Given the description of an element on the screen output the (x, y) to click on. 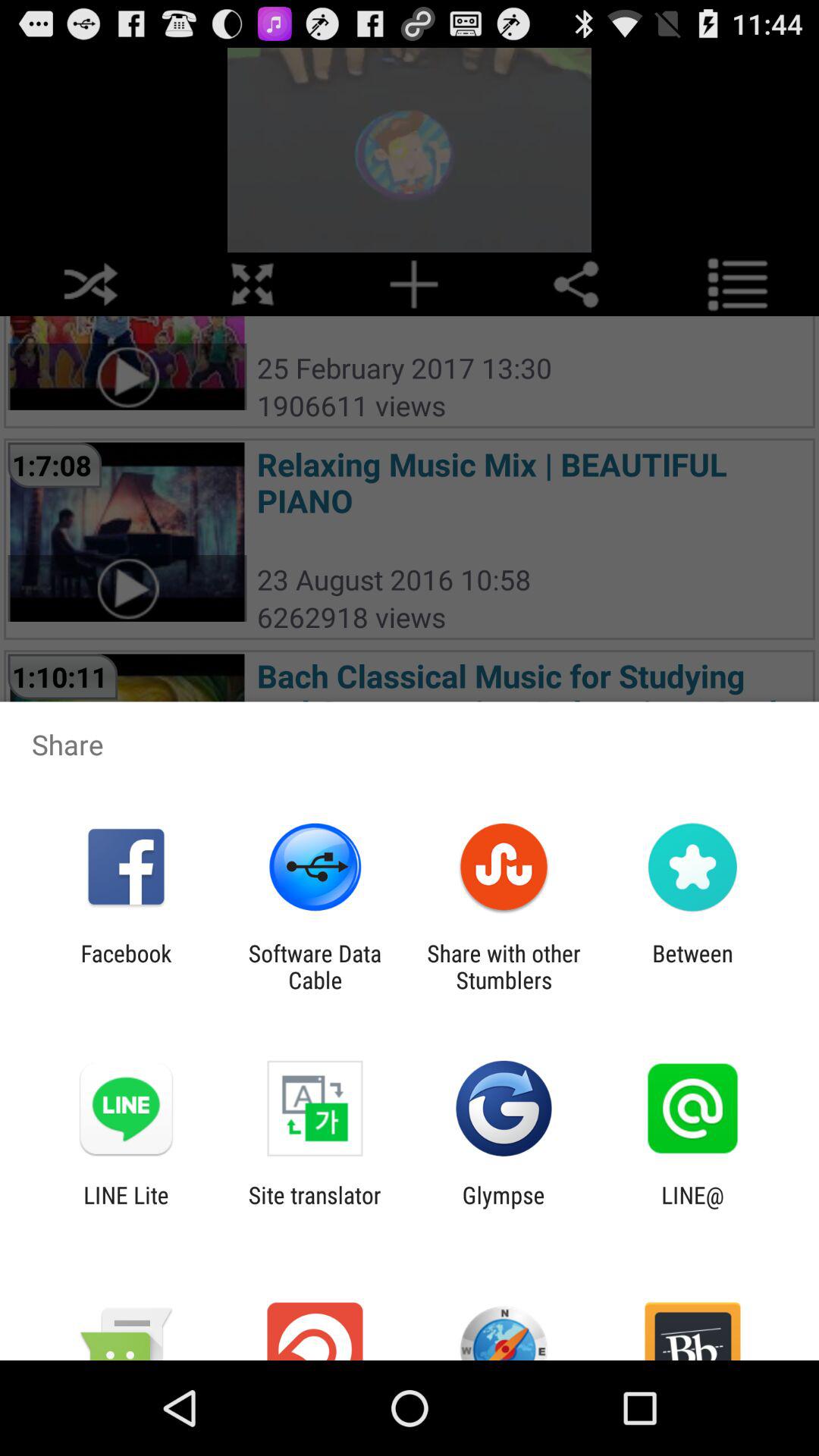
click icon next to share with other icon (314, 966)
